Given the description of an element on the screen output the (x, y) to click on. 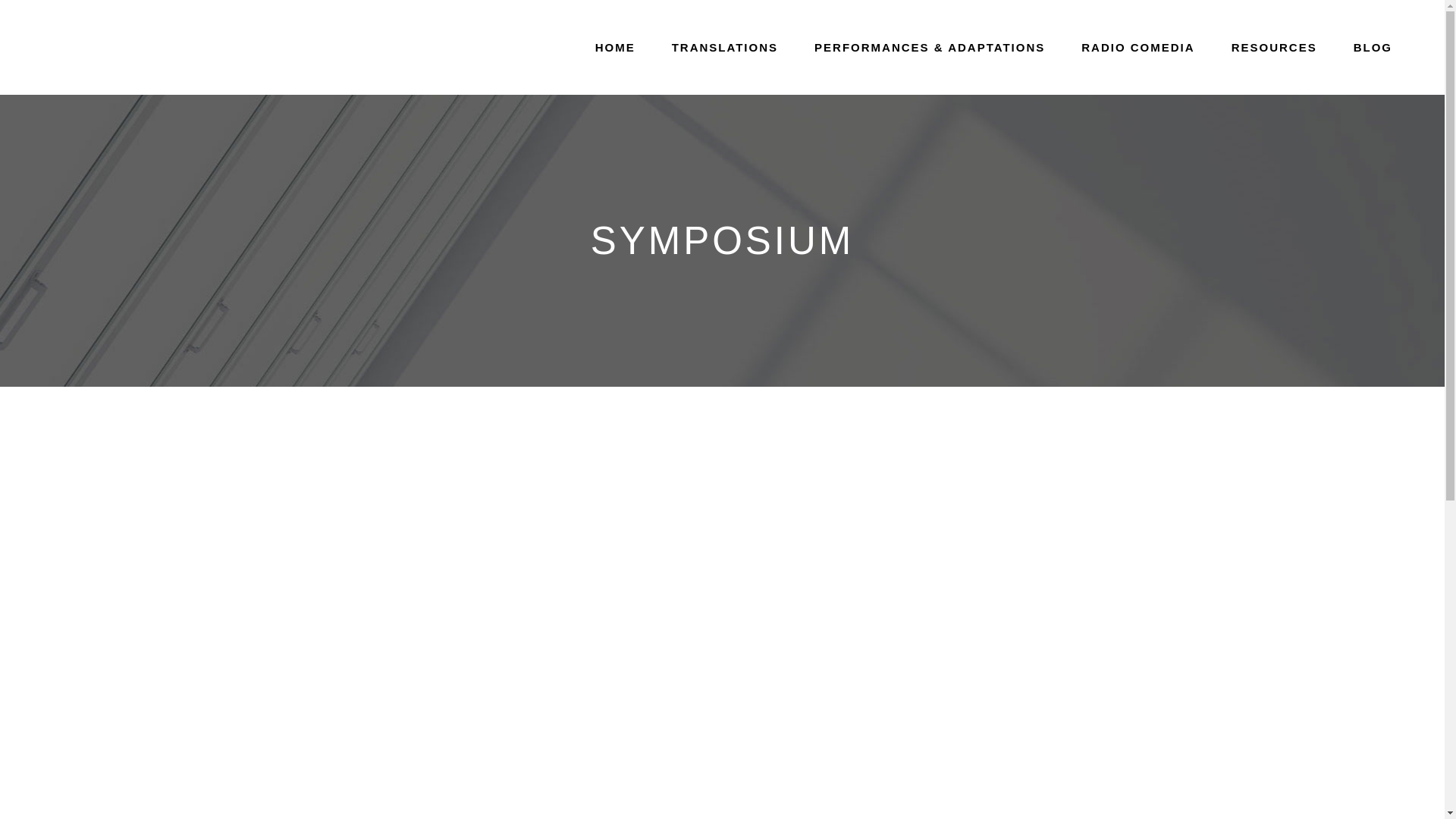
TRANSLATIONS (724, 47)
RADIO COMEDIA (1137, 47)
RESOURCES (1273, 47)
